Given the description of an element on the screen output the (x, y) to click on. 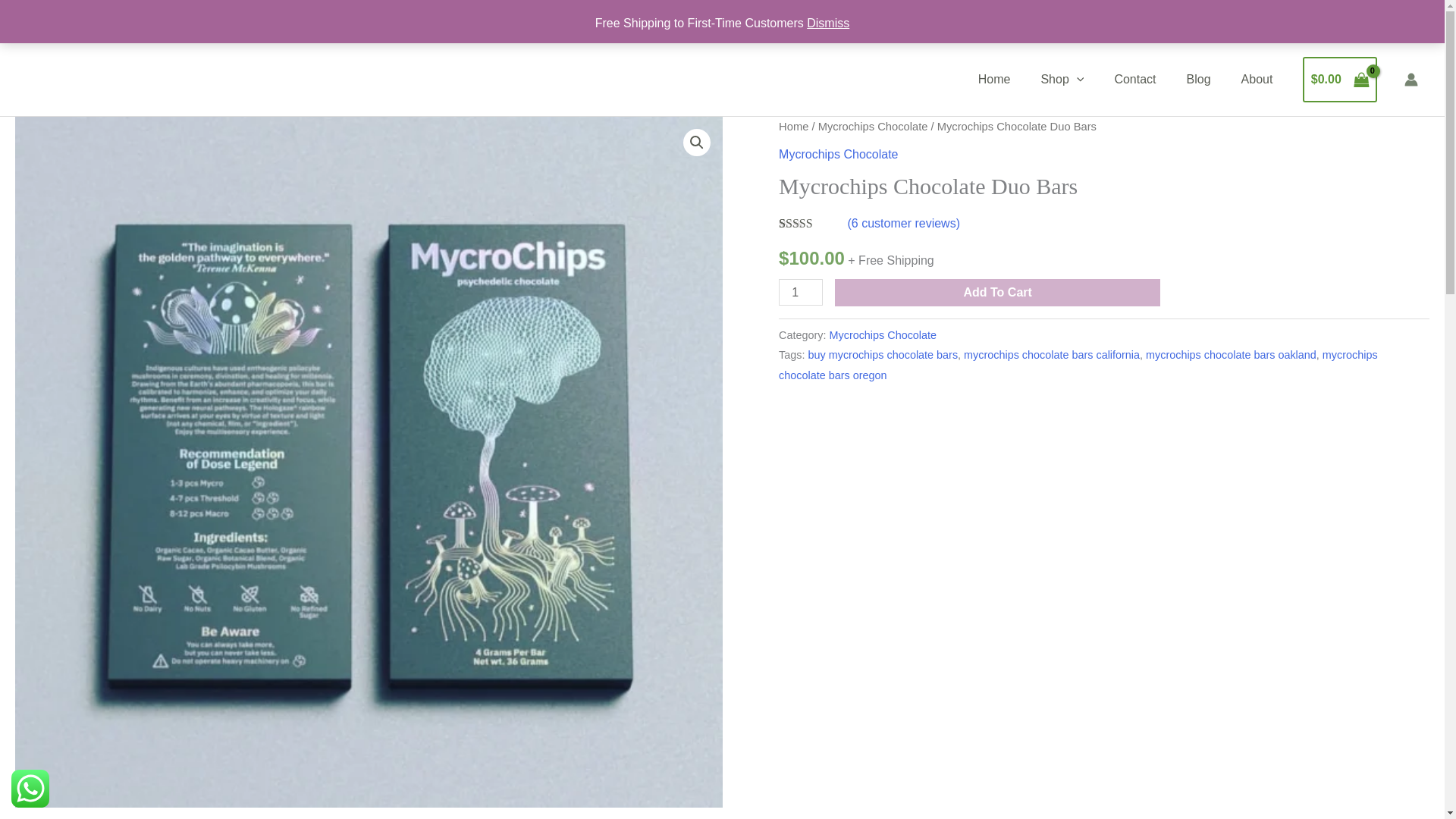
Home (994, 79)
Home (793, 126)
mycrochips chocolate bars oakland (1230, 354)
buy mycrochips chocolate bars (883, 354)
1 (800, 292)
Contact (1134, 79)
Blog (1198, 79)
Mycrochips Chocolate (873, 126)
About (1256, 79)
Mycrochips Chocolate (883, 335)
Mycrochips Chocolate (838, 154)
mycrochips chocolate bars california (1051, 354)
